Given the description of an element on the screen output the (x, y) to click on. 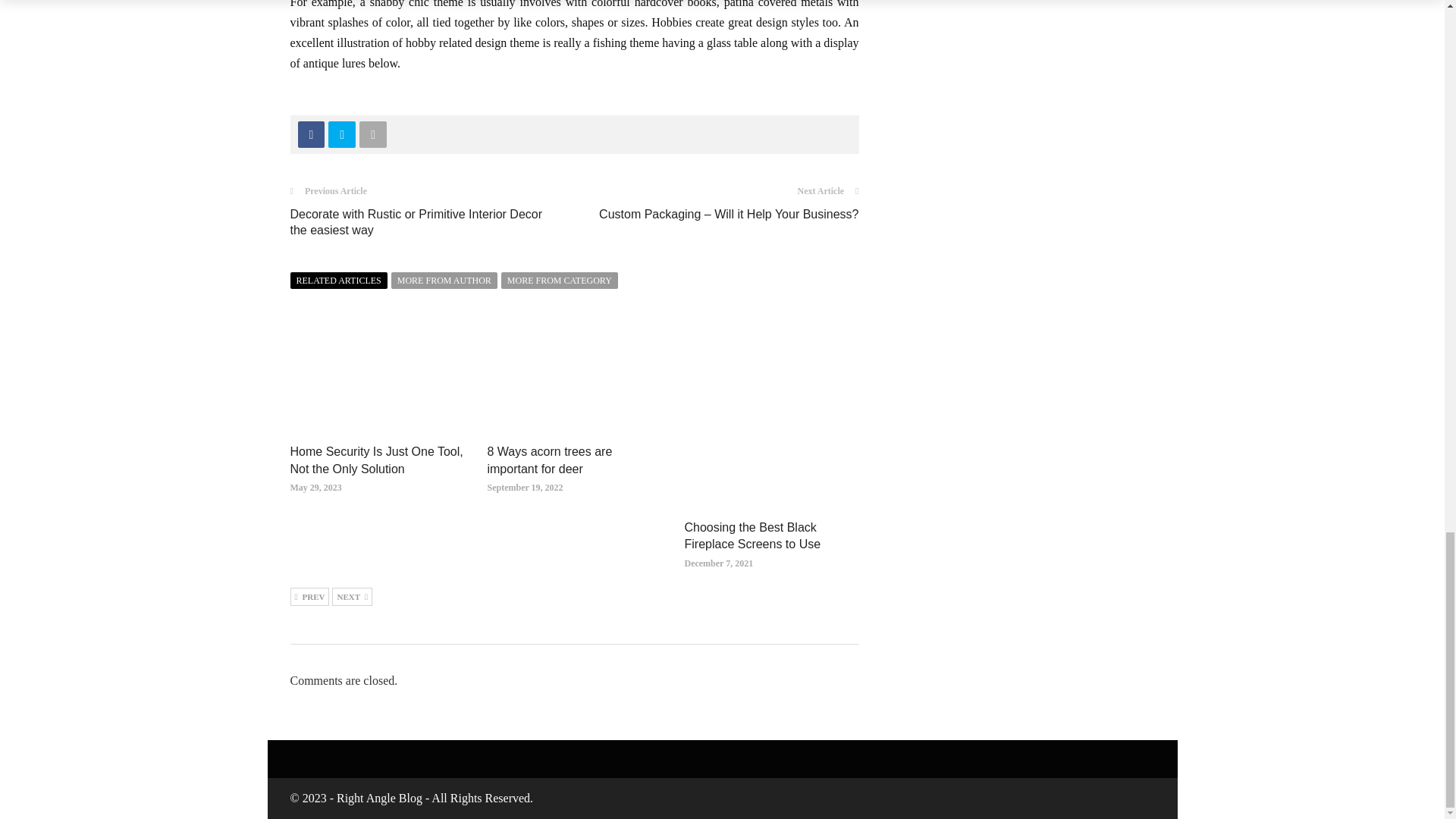
Next (351, 597)
Previous (309, 597)
